Given the description of an element on the screen output the (x, y) to click on. 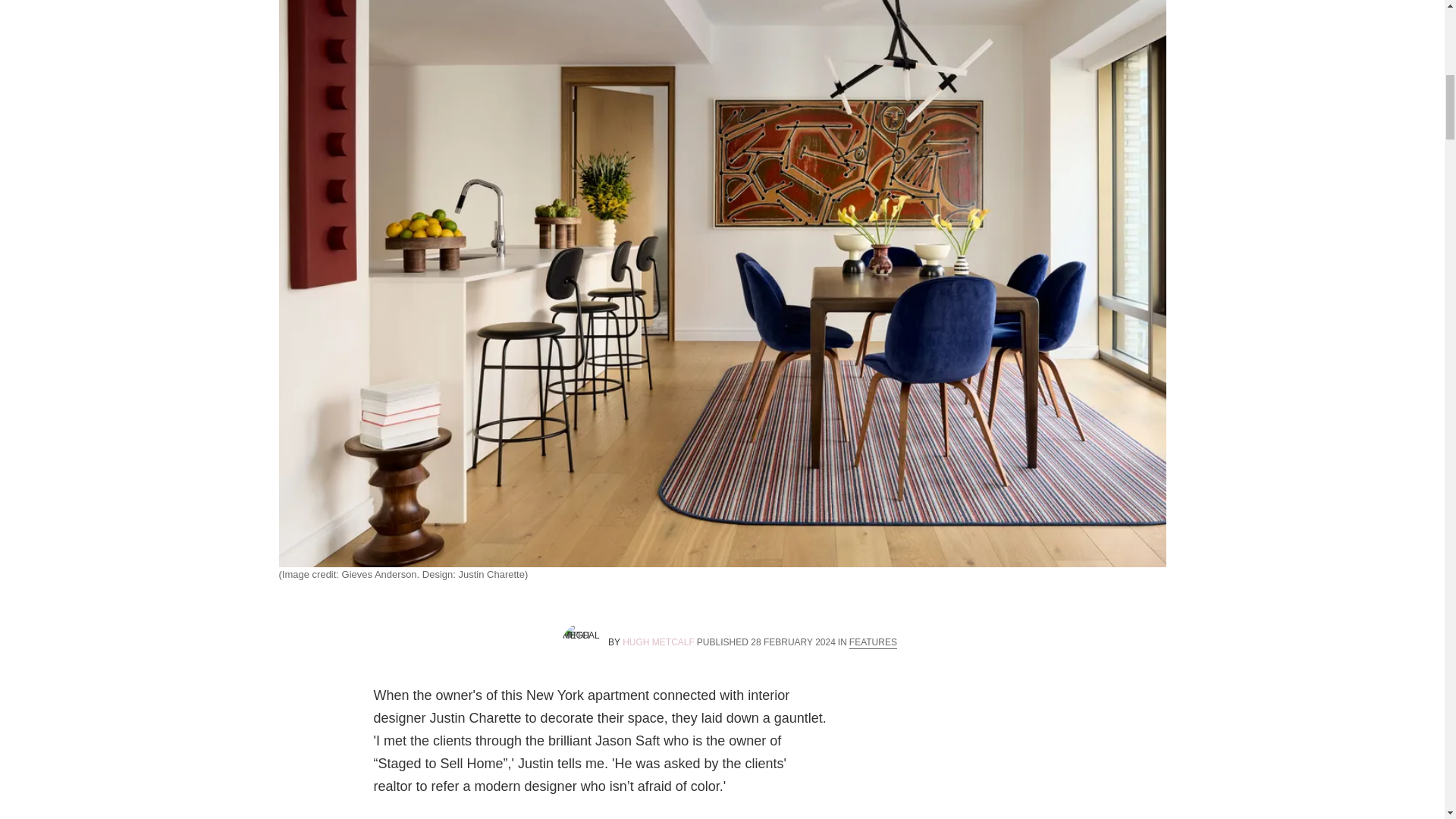
HUGH METCALF (658, 642)
